Given the description of an element on the screen output the (x, y) to click on. 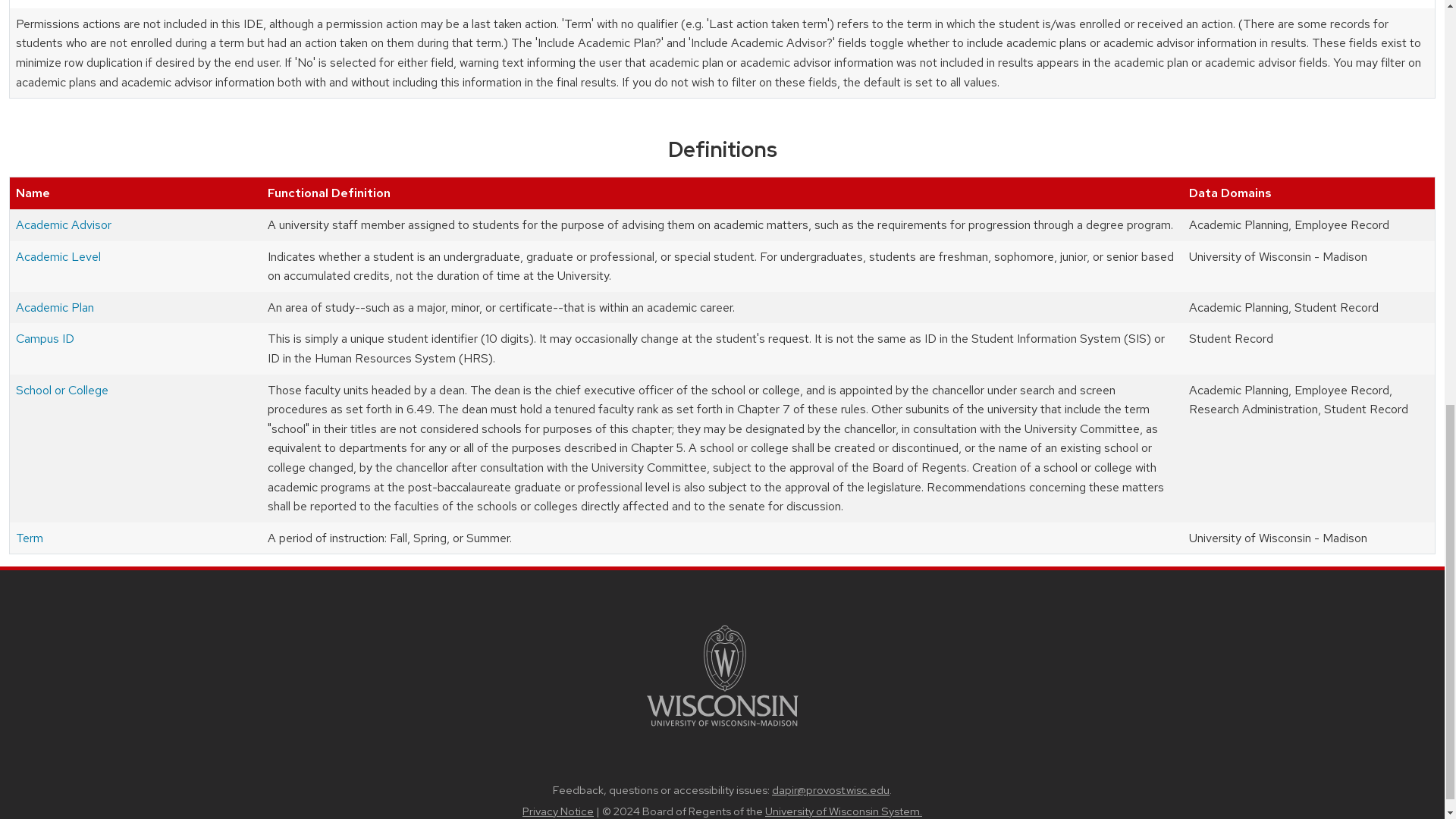
School or College (61, 390)
Privacy Notice (558, 811)
Term (29, 537)
Academic Plan (55, 307)
Campus ID (45, 338)
University of Wisconsin System. (843, 811)
Academic Level (58, 256)
Academic Advisor (64, 224)
